Given the description of an element on the screen output the (x, y) to click on. 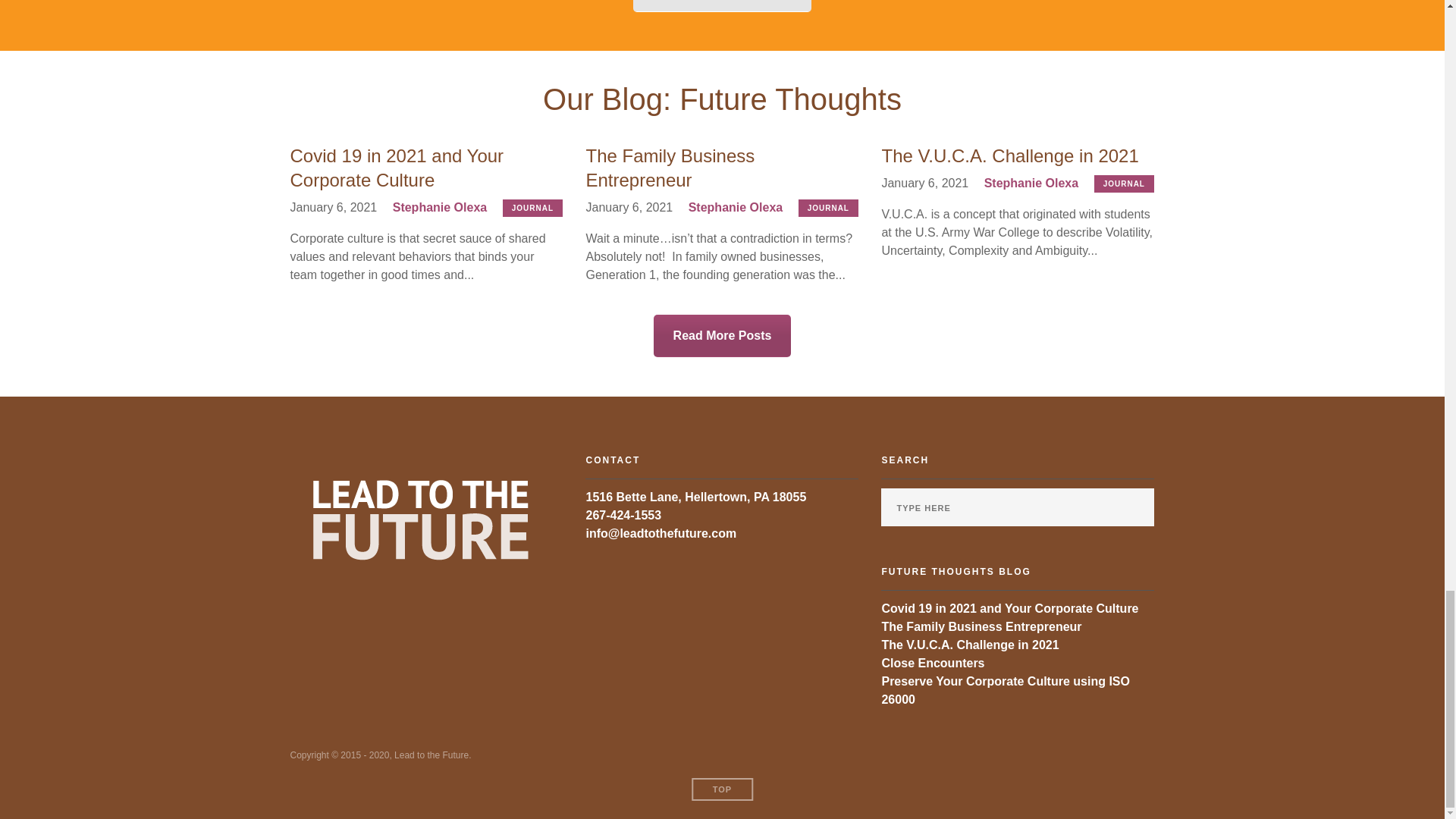
Stephanie Olexa (735, 206)
Covid 19 in 2021 and Your Corporate Culture (425, 168)
JOURNAL (1123, 183)
1516 Bette Lane, Hellertown, PA 18055 (695, 496)
Set-up a Meeting Today! (722, 6)
The Family Business Entrepreneur (722, 168)
JOURNAL (532, 207)
Stephanie Olexa (1031, 182)
Posts by Stephanie Olexa (440, 206)
267-424-1553 (623, 514)
